Given the description of an element on the screen output the (x, y) to click on. 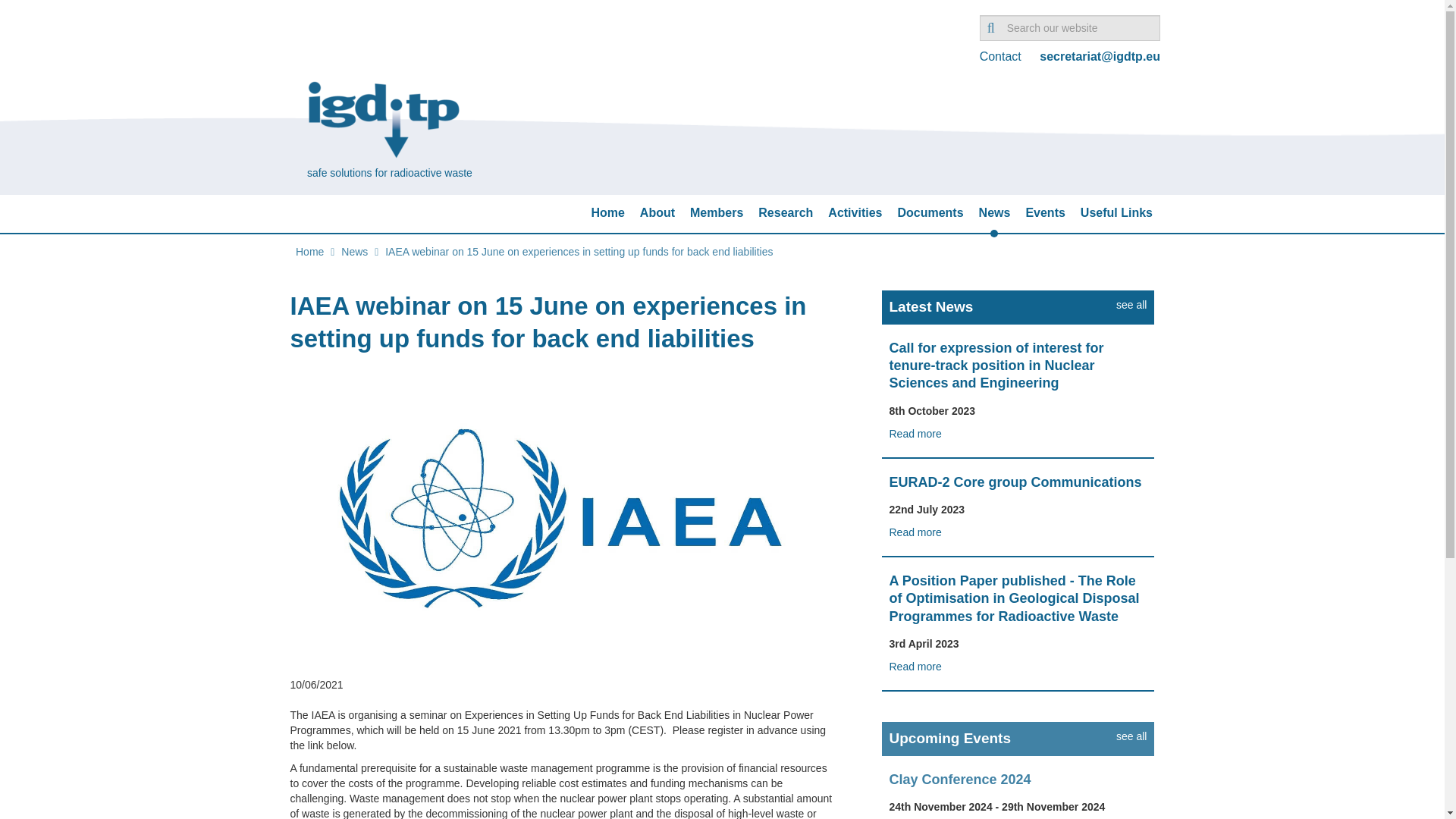
EURAD-2 Core group Communications (1014, 482)
Research (785, 212)
Members (716, 212)
Home (607, 212)
News (354, 251)
Read more (914, 666)
Documents (929, 212)
Read more (914, 433)
Home (309, 251)
Read more (914, 532)
Clay Conference 2024 (959, 779)
see all (1131, 305)
Useful Links (1116, 212)
